Given the description of an element on the screen output the (x, y) to click on. 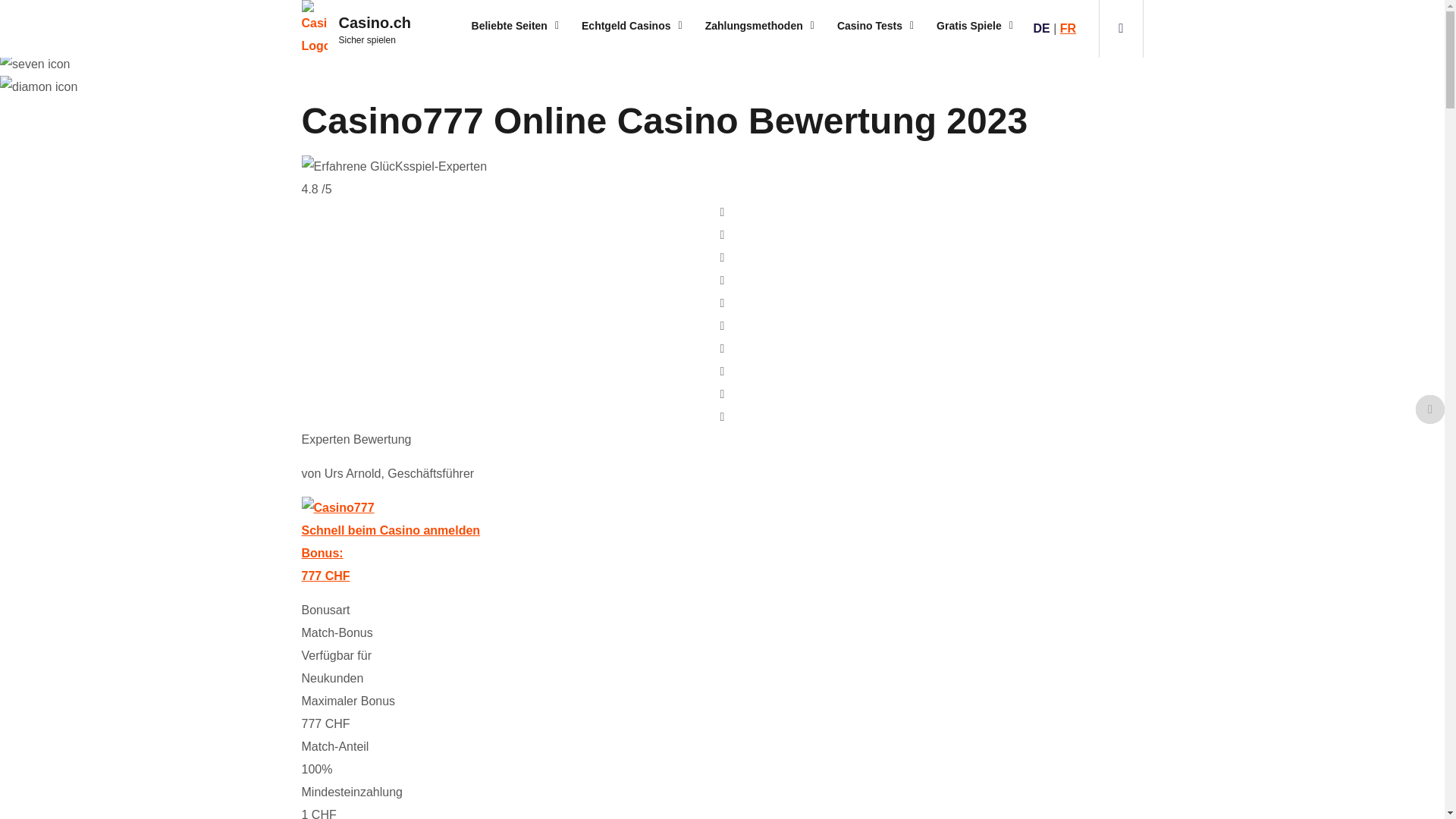
Gratis Spiele Element type: text (974, 25)
DE Element type: text (1040, 27)
Schnell beim Casino anmelden Element type: text (390, 530)
Casino Tests Element type: text (875, 25)
Zahlungsmethoden Element type: text (759, 25)
Casino.ch
Sicher spielen Element type: text (362, 28)
Beliebte Seiten Element type: text (515, 25)
Echtgeld Casinos Element type: text (631, 25)
FR Element type: text (1068, 27)
Bonus:
777 CHF Element type: text (722, 566)
